Given the description of an element on the screen output the (x, y) to click on. 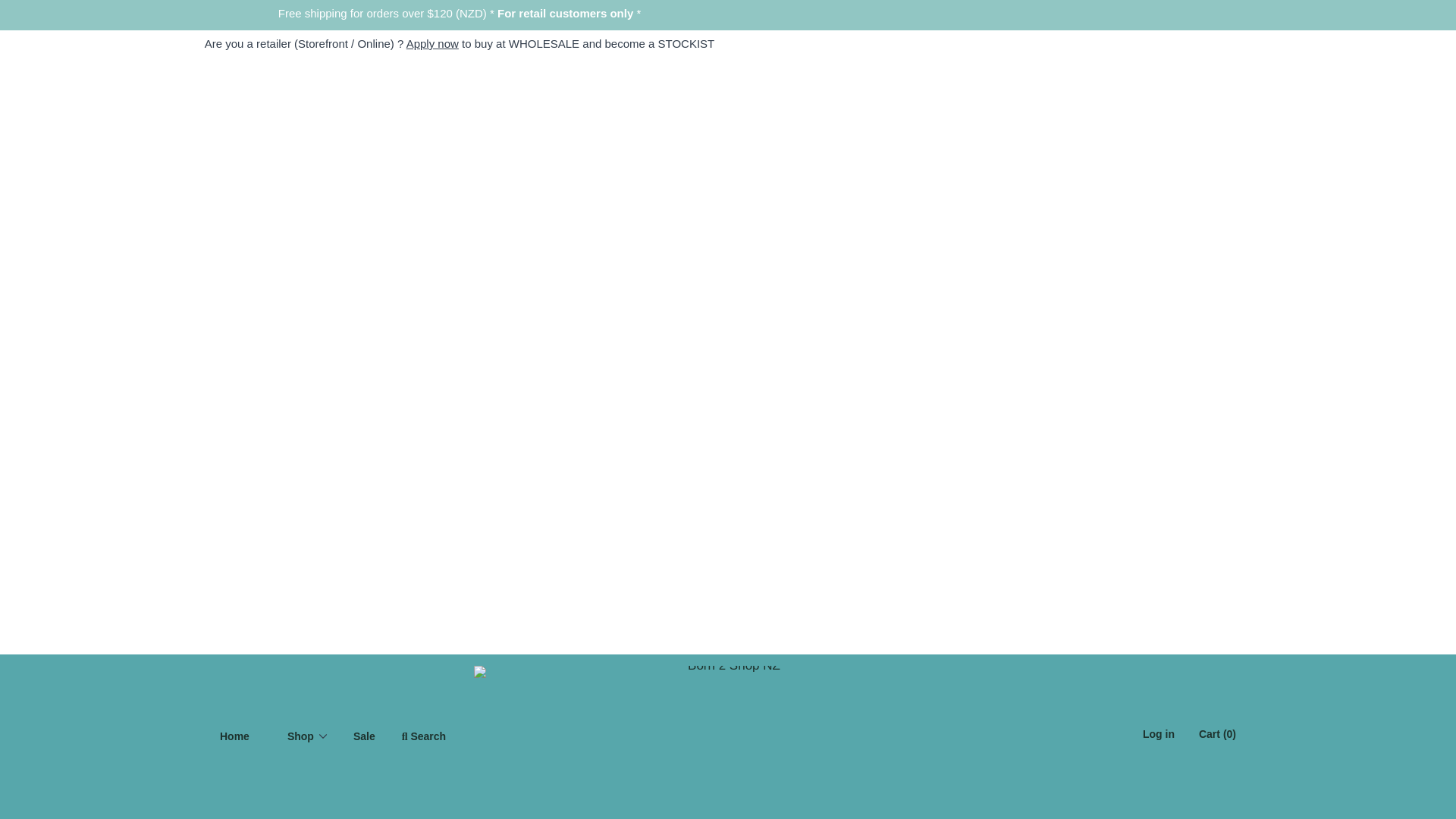
Skip To Content (67, 18)
Wholesale Sign up (432, 42)
Home (233, 736)
Shop (300, 736)
Apply now (432, 42)
